Given the description of an element on the screen output the (x, y) to click on. 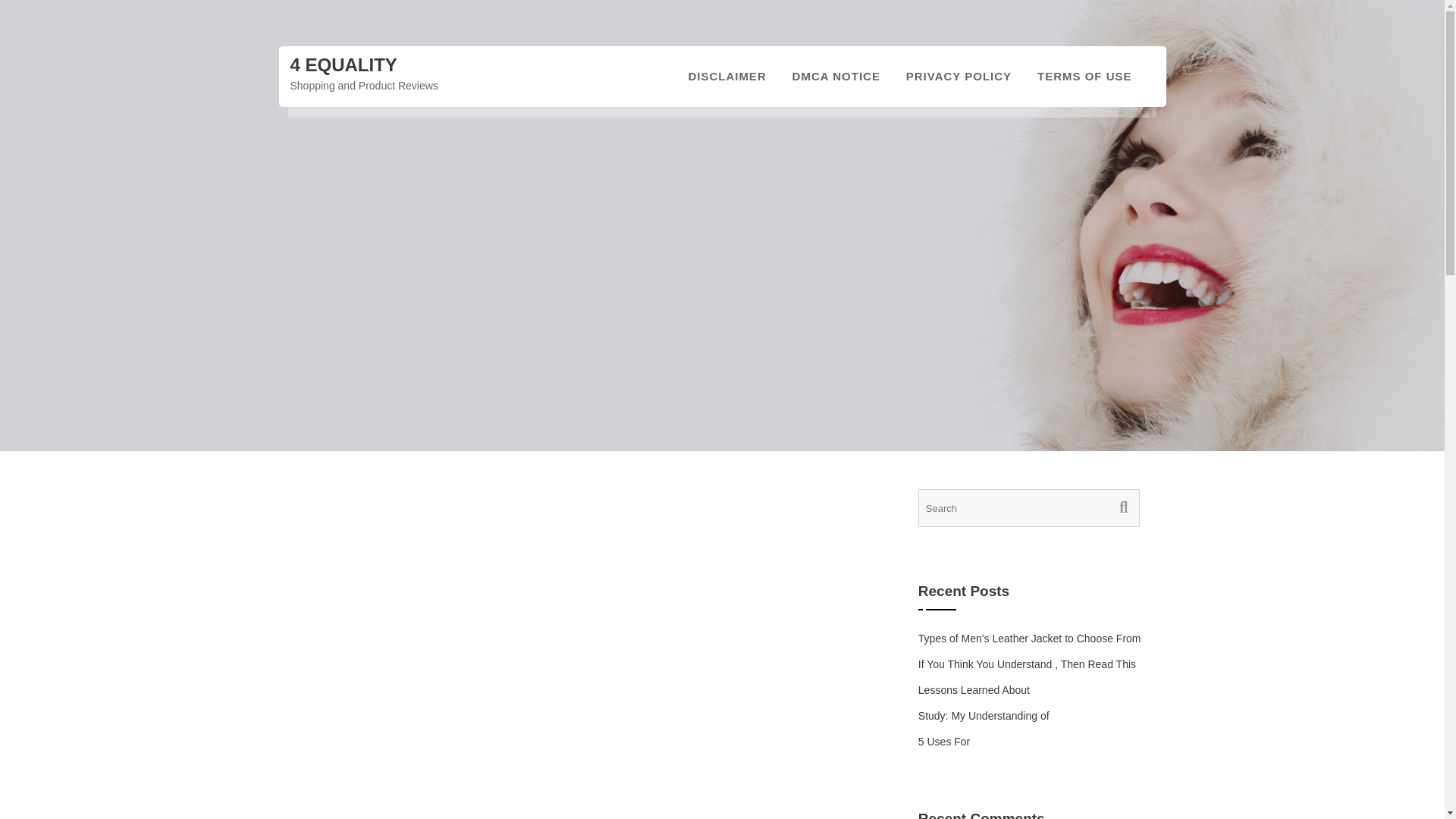
Lessons Learned About (973, 689)
If You Think You Understand , Then Read This (1026, 664)
4 EQUALITY (342, 64)
Types of Men's Leather Jacket to Choose From (1029, 638)
PRIVACY POLICY (959, 76)
Study: My Understanding of (983, 715)
DISCLAIMER (727, 76)
DMCA NOTICE (835, 76)
5 Uses For (943, 741)
TERMS OF USE (1084, 76)
